Given the description of an element on the screen output the (x, y) to click on. 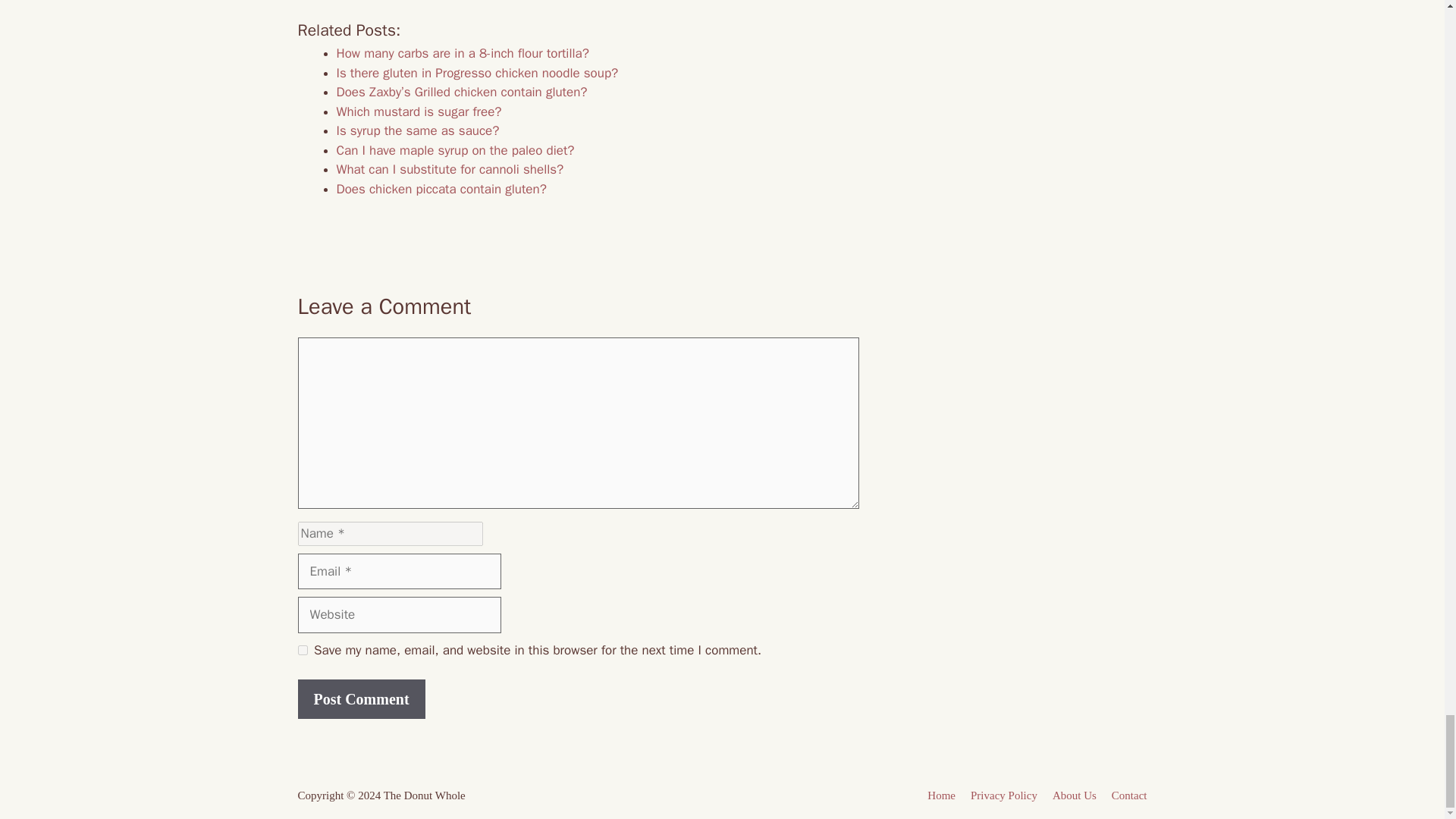
yes (302, 650)
Post Comment (361, 699)
